Given the description of an element on the screen output the (x, y) to click on. 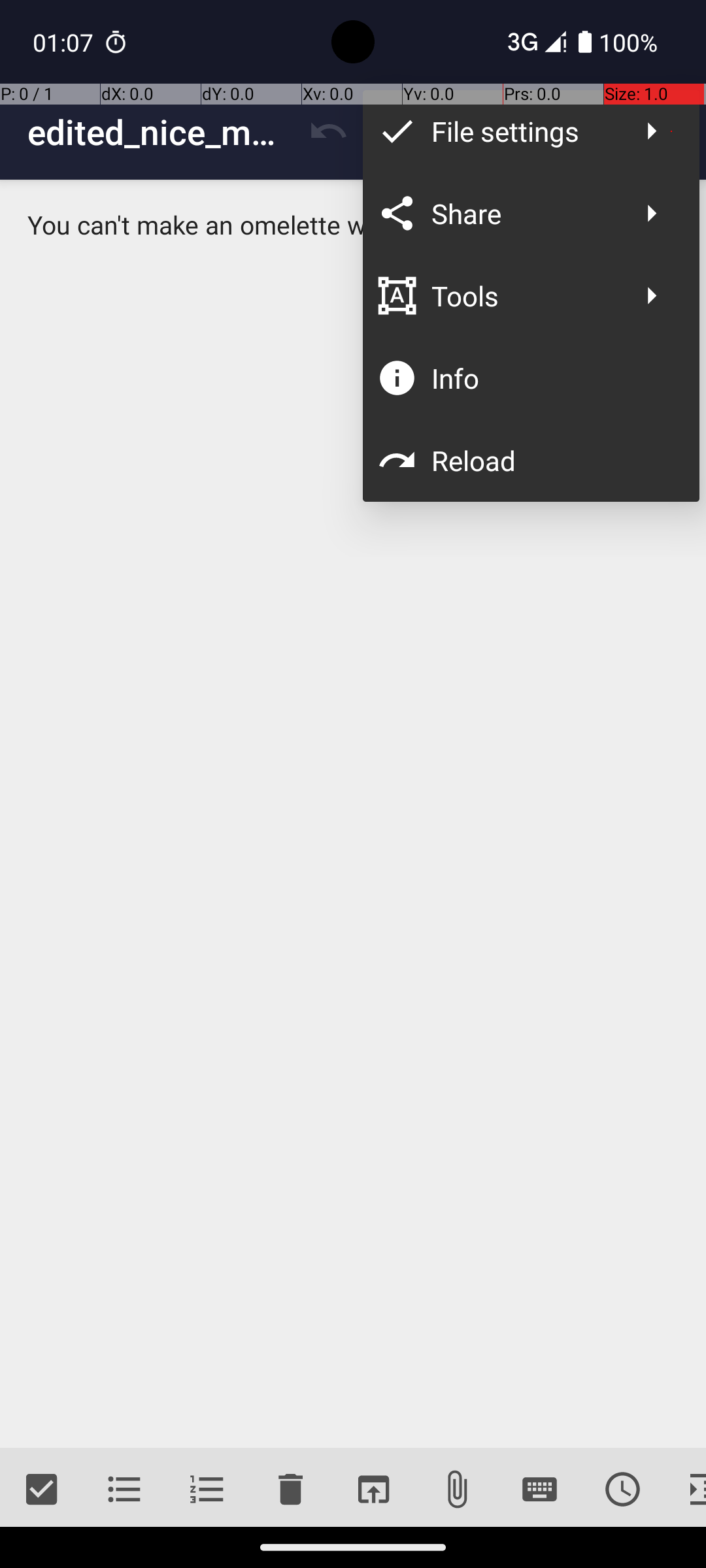
File settings Element type: android.widget.TextView (524, 130)
Tools Element type: android.widget.TextView (524, 295)
Info Element type: android.widget.TextView (551, 377)
Reload Element type: android.widget.TextView (551, 459)
01:07 Element type: android.widget.TextView (64, 41)
